Given the description of an element on the screen output the (x, y) to click on. 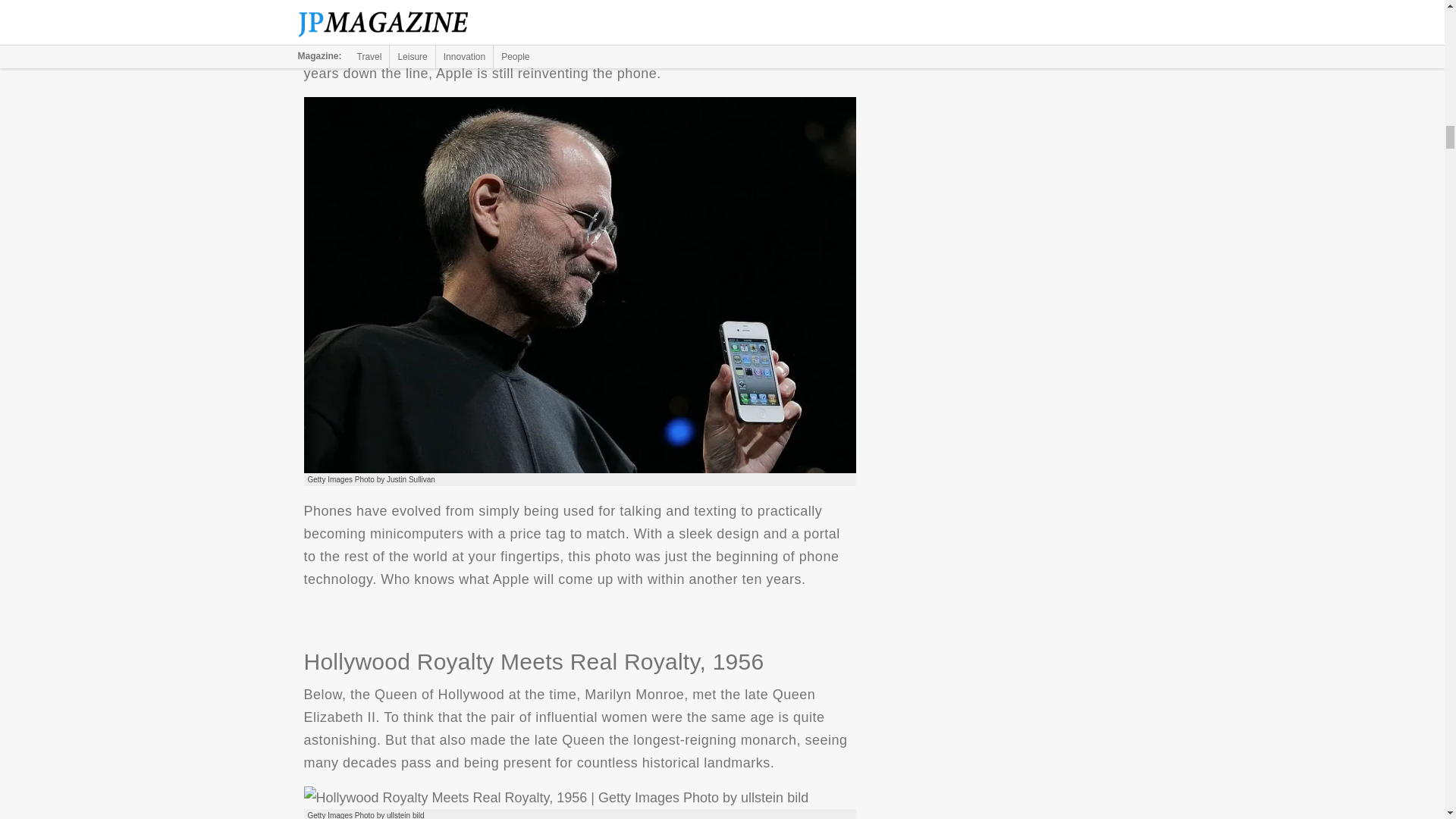
Hollywood Royalty Meets Real Royalty, 1956 (555, 797)
